Given the description of an element on the screen output the (x, y) to click on. 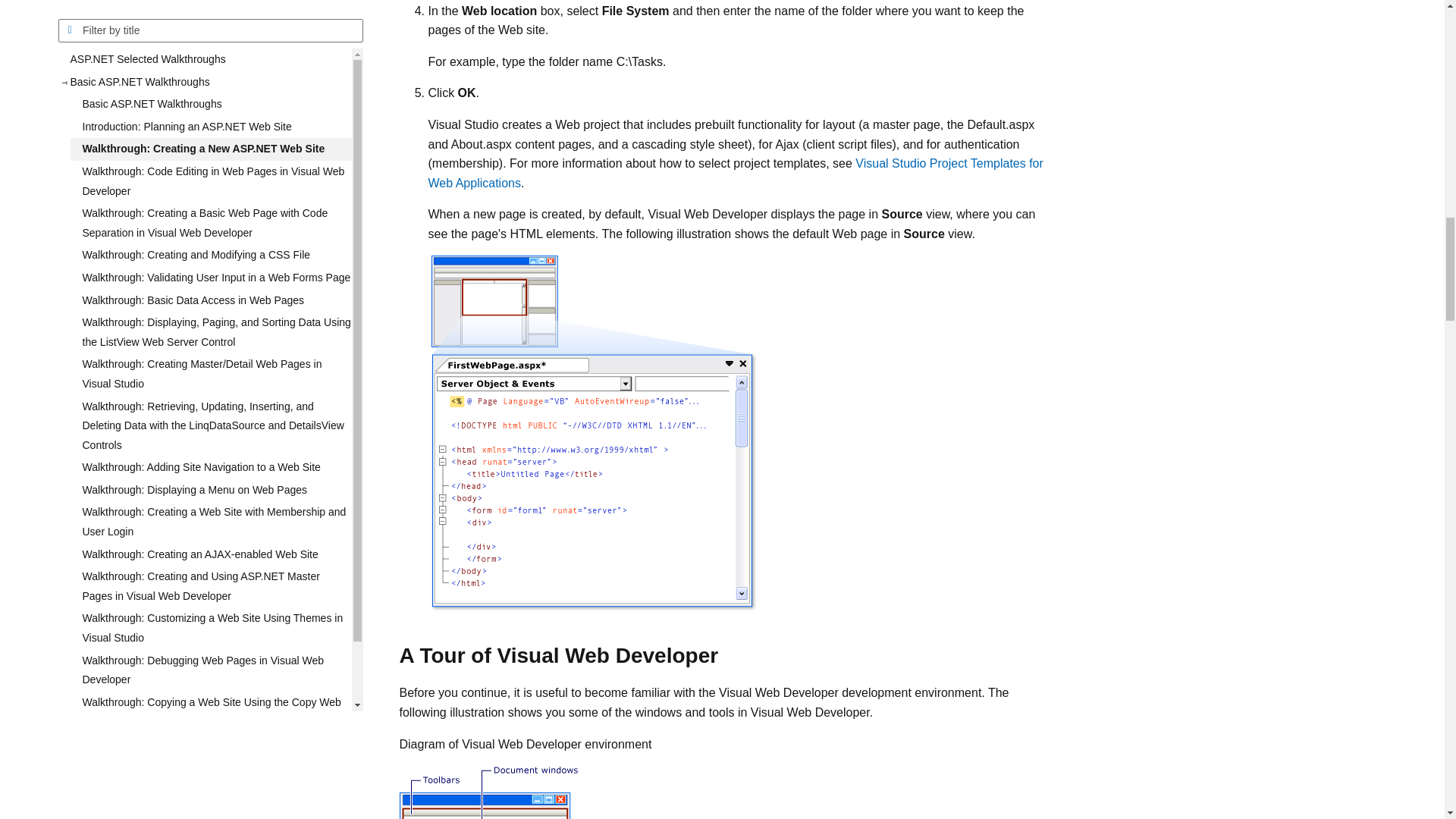
Default page in Source view (593, 434)
Schematic of IDE windows and tools (529, 792)
